Given the description of an element on the screen output the (x, y) to click on. 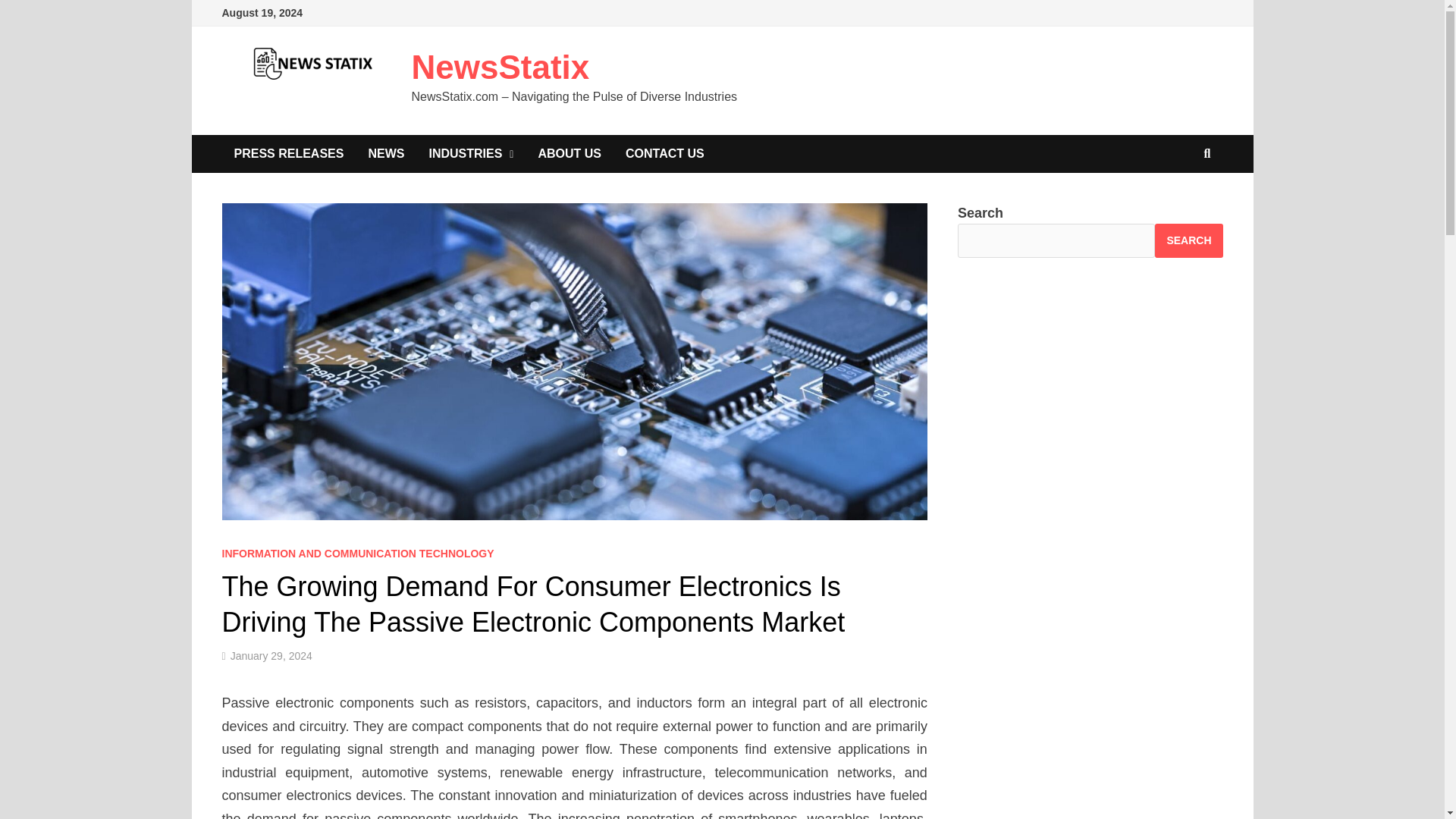
NewsStatix (499, 66)
NEWS (385, 153)
CONTACT US (664, 153)
ABOUT US (568, 153)
INDUSTRIES (470, 153)
PRESS RELEASES (288, 153)
